Given the description of an element on the screen output the (x, y) to click on. 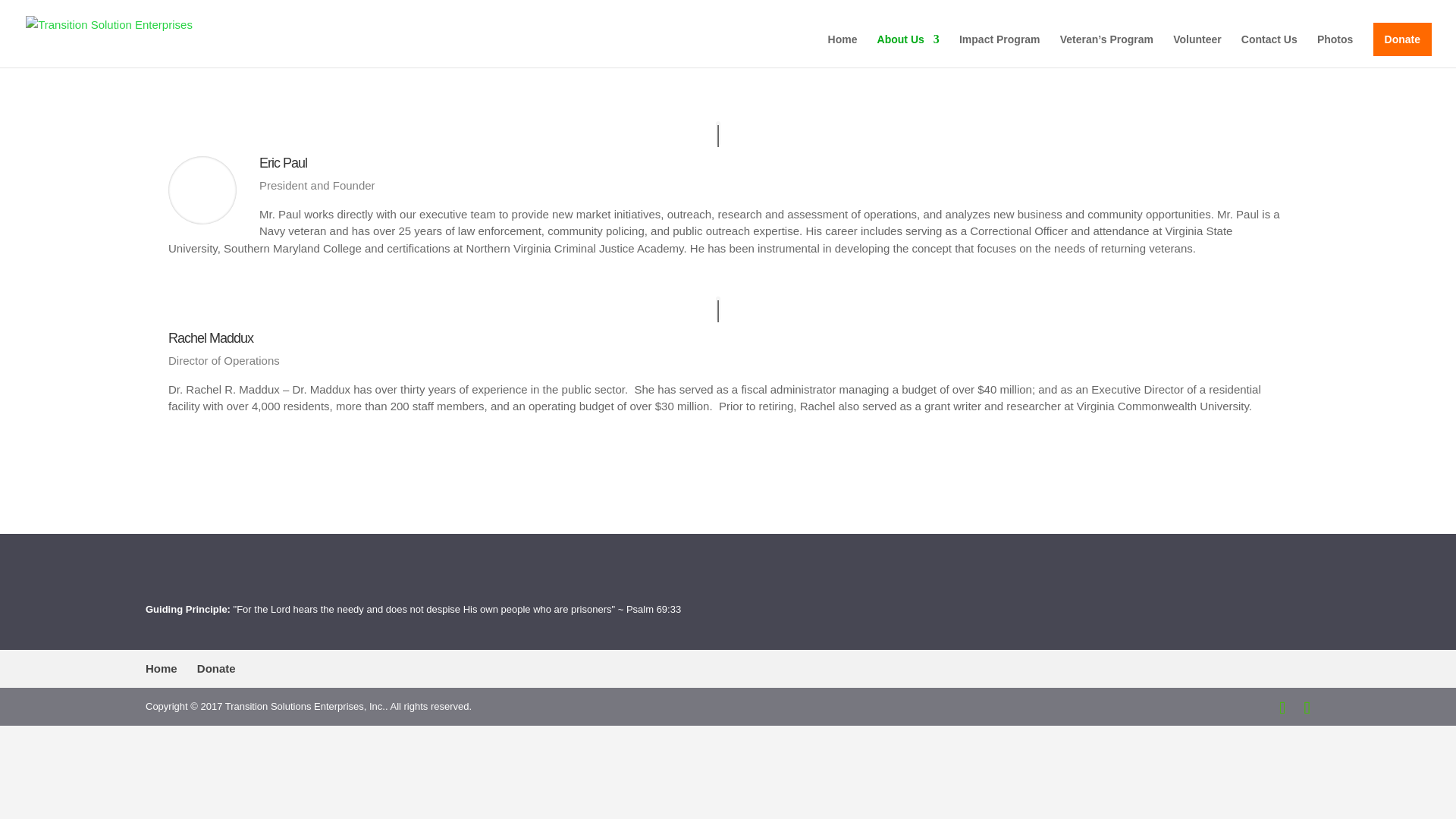
Impact Program (1000, 50)
Photos (1334, 50)
Donate (215, 667)
Volunteer (1197, 50)
About Us (908, 50)
Contact Us (1269, 50)
Donate (1402, 39)
Home (161, 667)
